Given the description of an element on the screen output the (x, y) to click on. 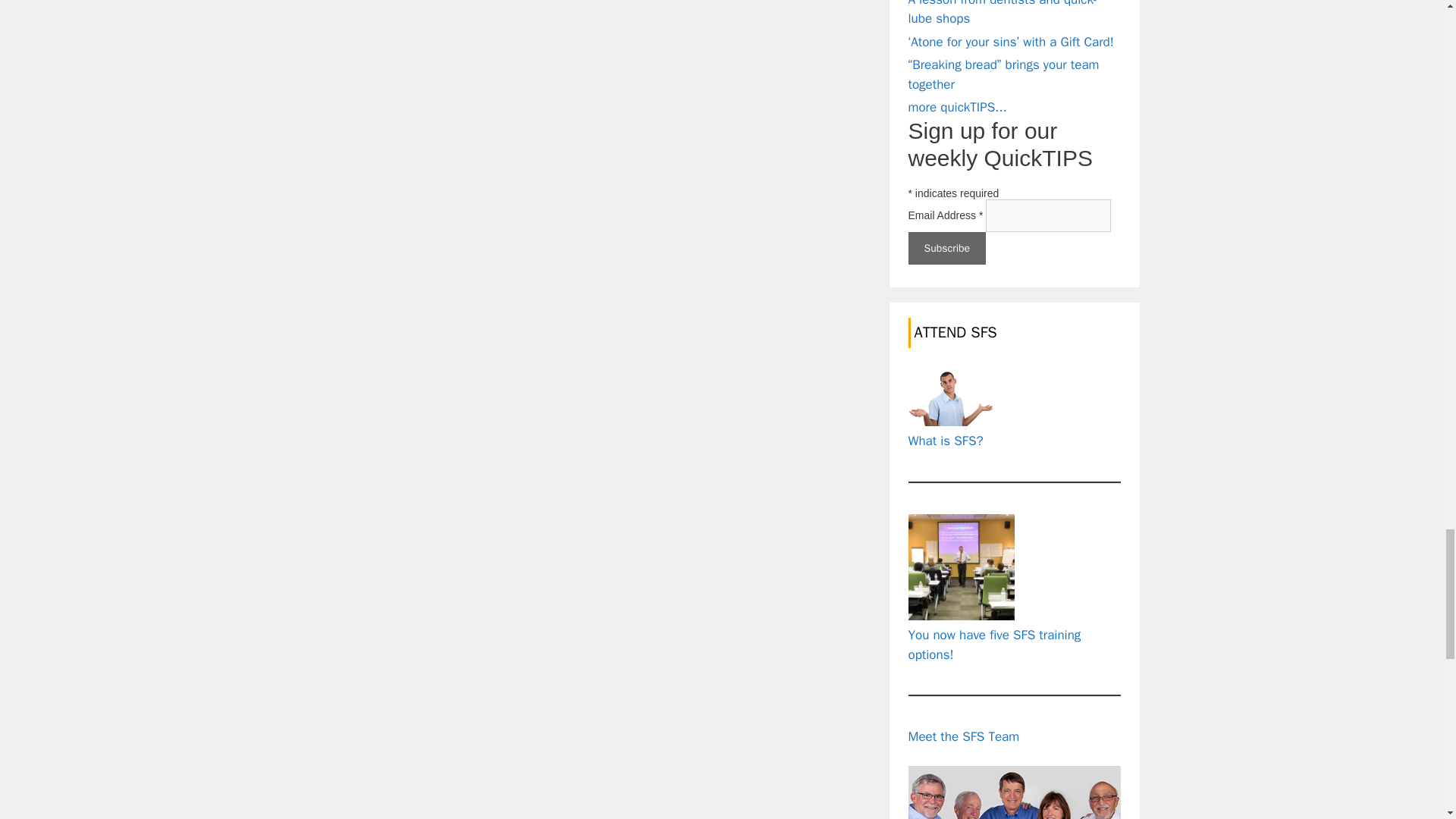
Subscribe (947, 247)
